Given the description of an element on the screen output the (x, y) to click on. 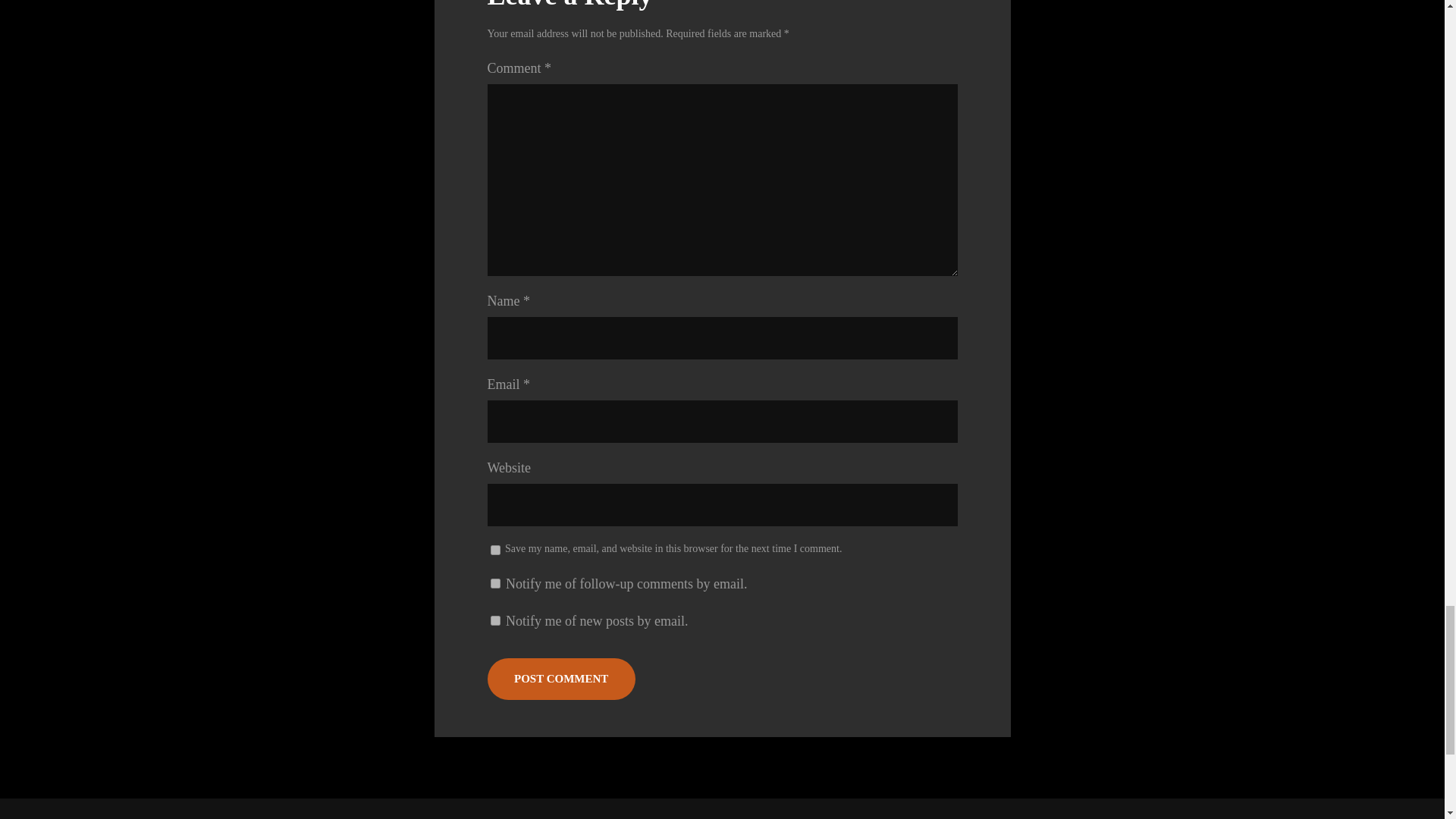
subscribe (494, 620)
Post Comment (560, 679)
Post Comment (560, 679)
subscribe (494, 583)
